Given the description of an element on the screen output the (x, y) to click on. 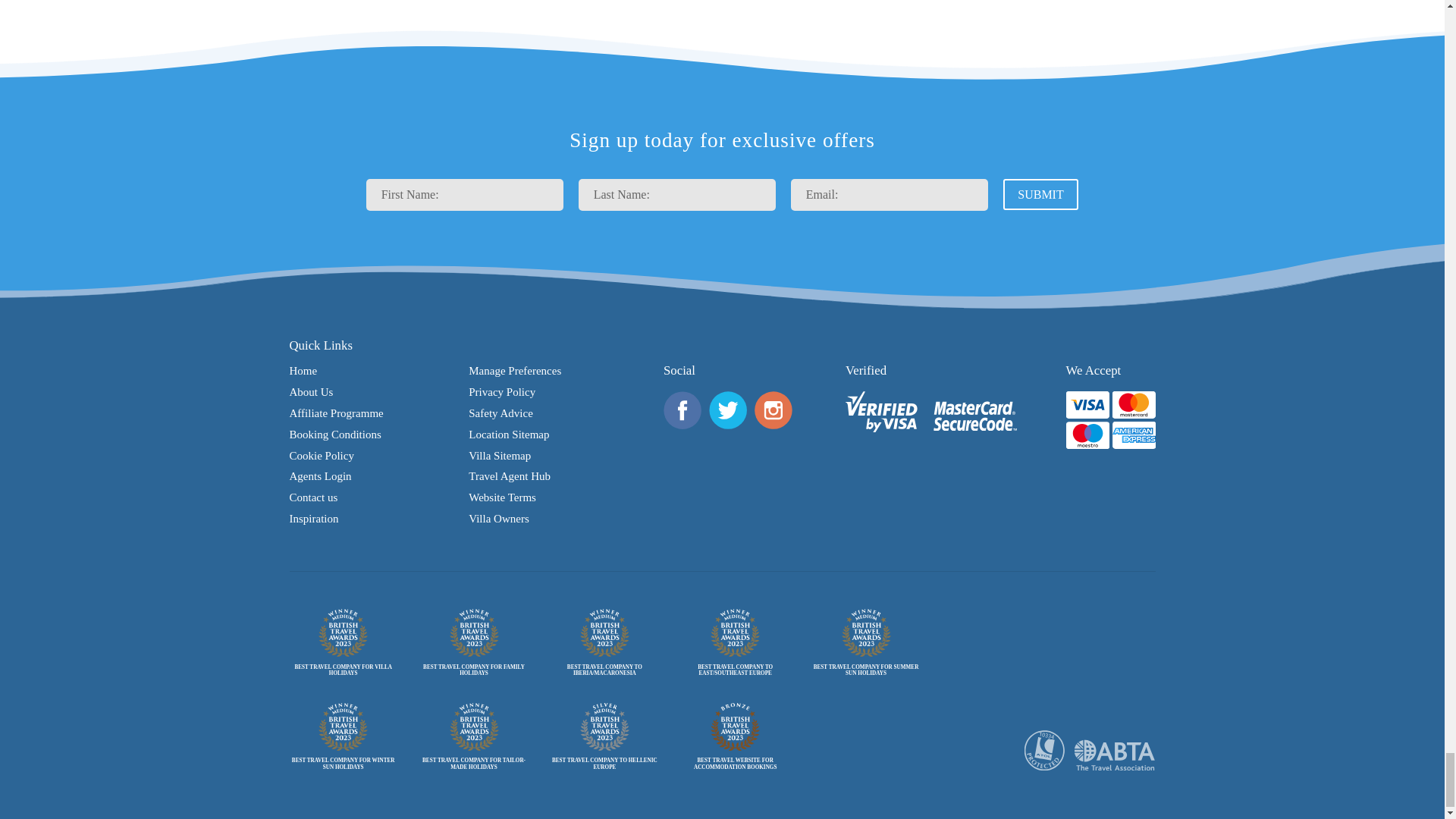
Submit (1040, 194)
